Given the description of an element on the screen output the (x, y) to click on. 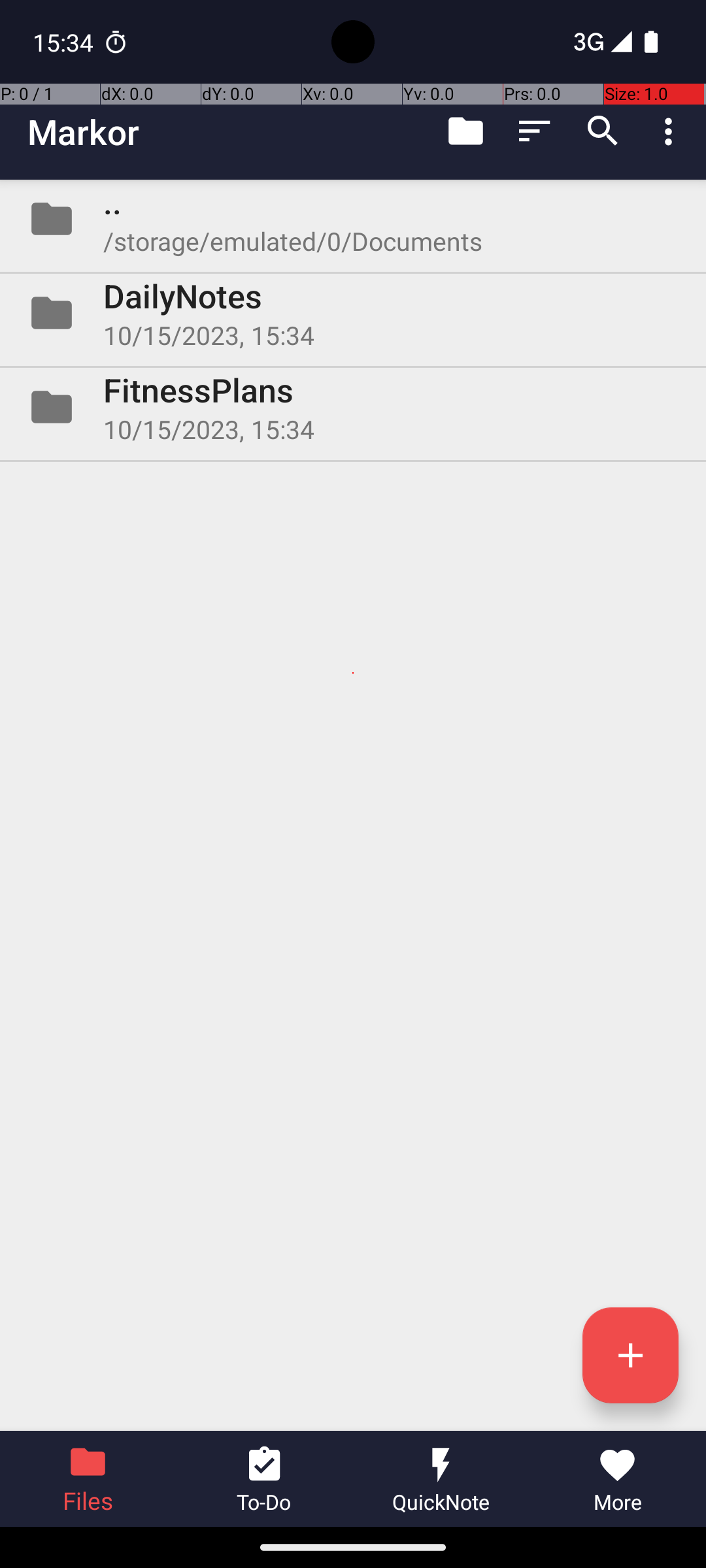
Folder DailyNotes  Element type: android.widget.LinearLayout (353, 312)
Folder FitnessPlans  Element type: android.widget.LinearLayout (353, 406)
